Given the description of an element on the screen output the (x, y) to click on. 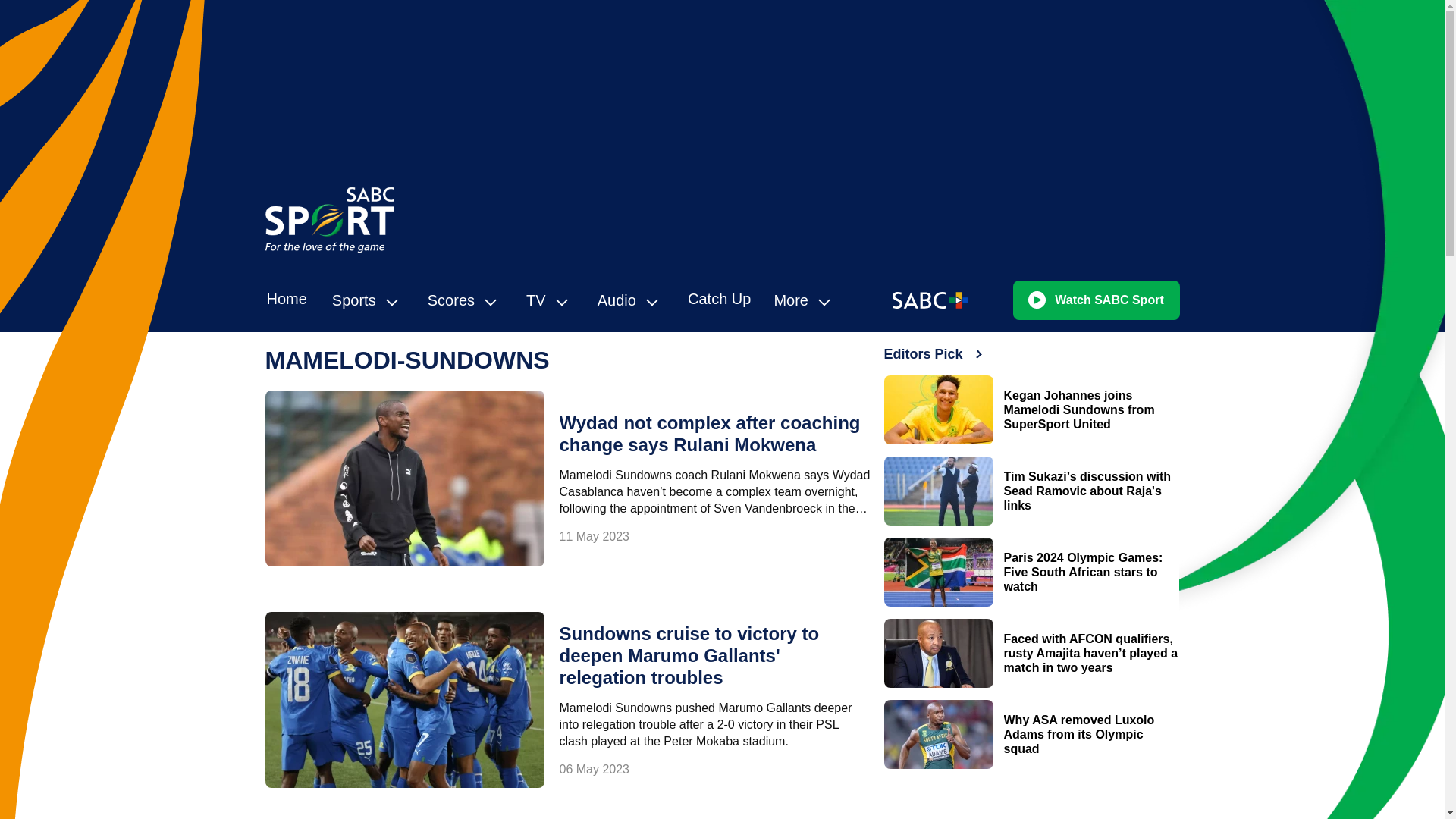
Catch Up (719, 298)
Scores (465, 299)
TV (550, 299)
Home (286, 298)
Watch SABC Sport (1096, 300)
More (804, 299)
Wydad not complex after coaching change says Rulani Mokwena (709, 433)
Audio (631, 299)
Sports (368, 299)
